Given the description of an element on the screen output the (x, y) to click on. 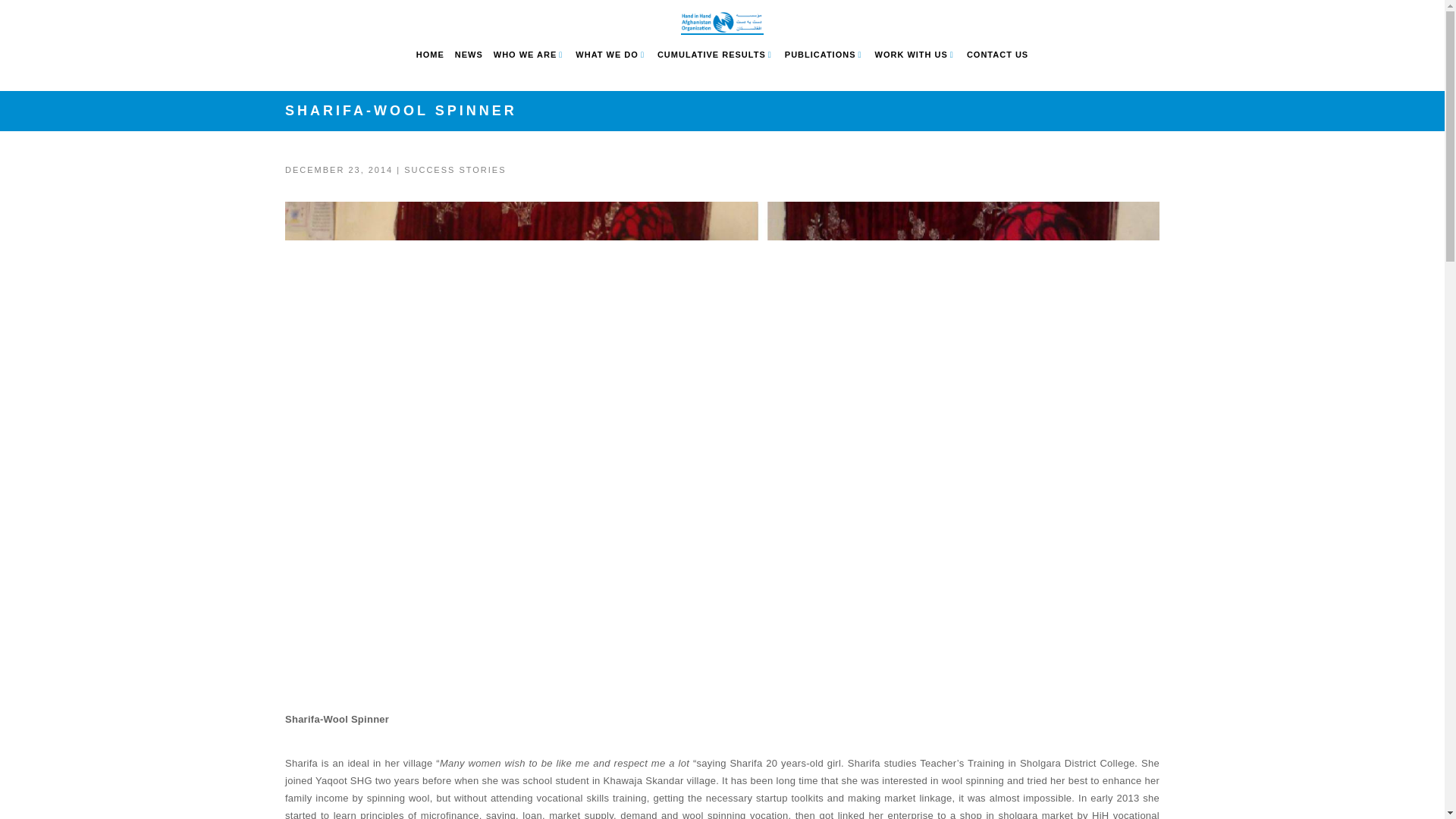
PUBLICATIONS (820, 55)
CONTACT US (996, 55)
WHAT WE DO (607, 55)
WHO WE ARE (525, 55)
NEWS (468, 55)
WORK WITH US (911, 55)
CUMULATIVE RESULTS (711, 55)
HOME (430, 55)
